Given the description of an element on the screen output the (x, y) to click on. 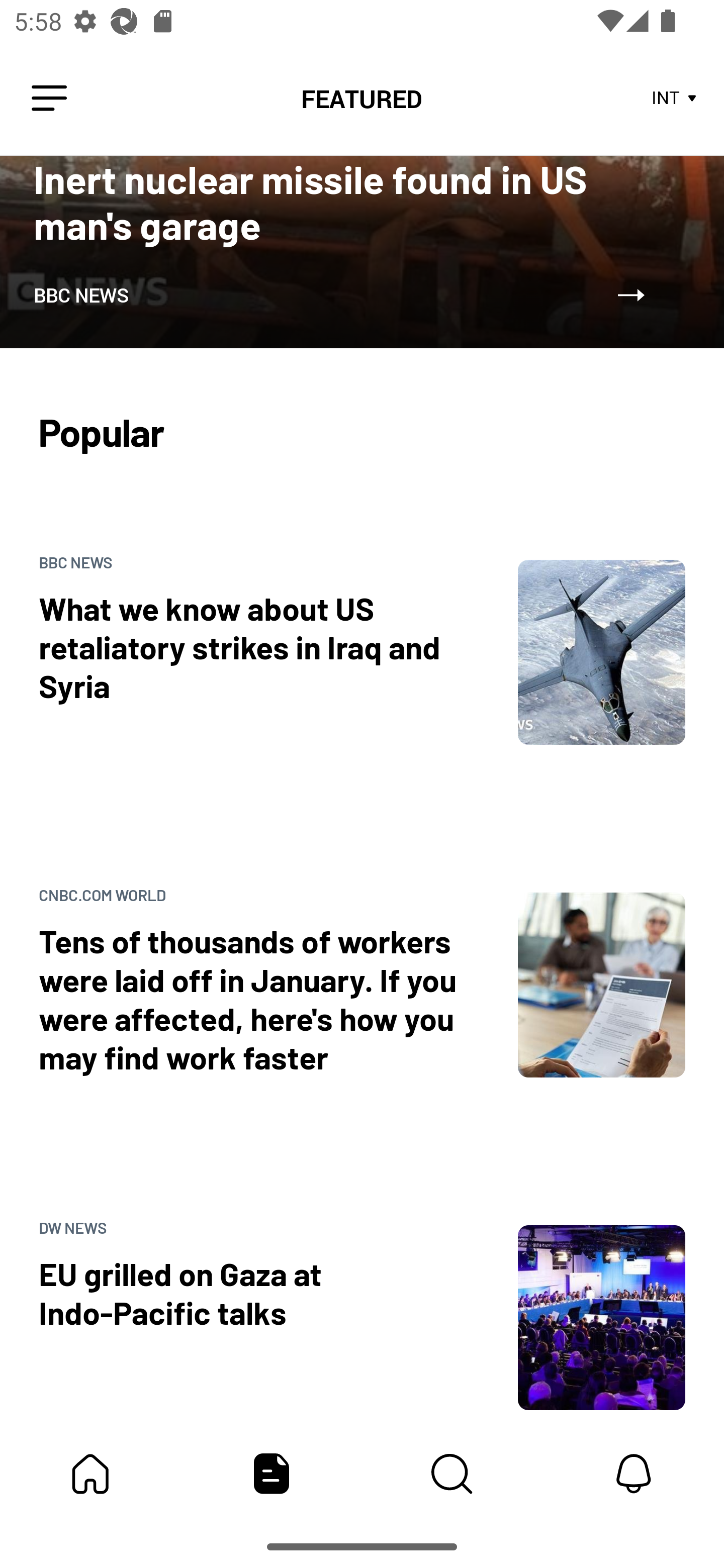
INT Store Area (674, 98)
Leading Icon (49, 98)
My Bundle (90, 1473)
Content Store (452, 1473)
Notifications (633, 1473)
